Given the description of an element on the screen output the (x, y) to click on. 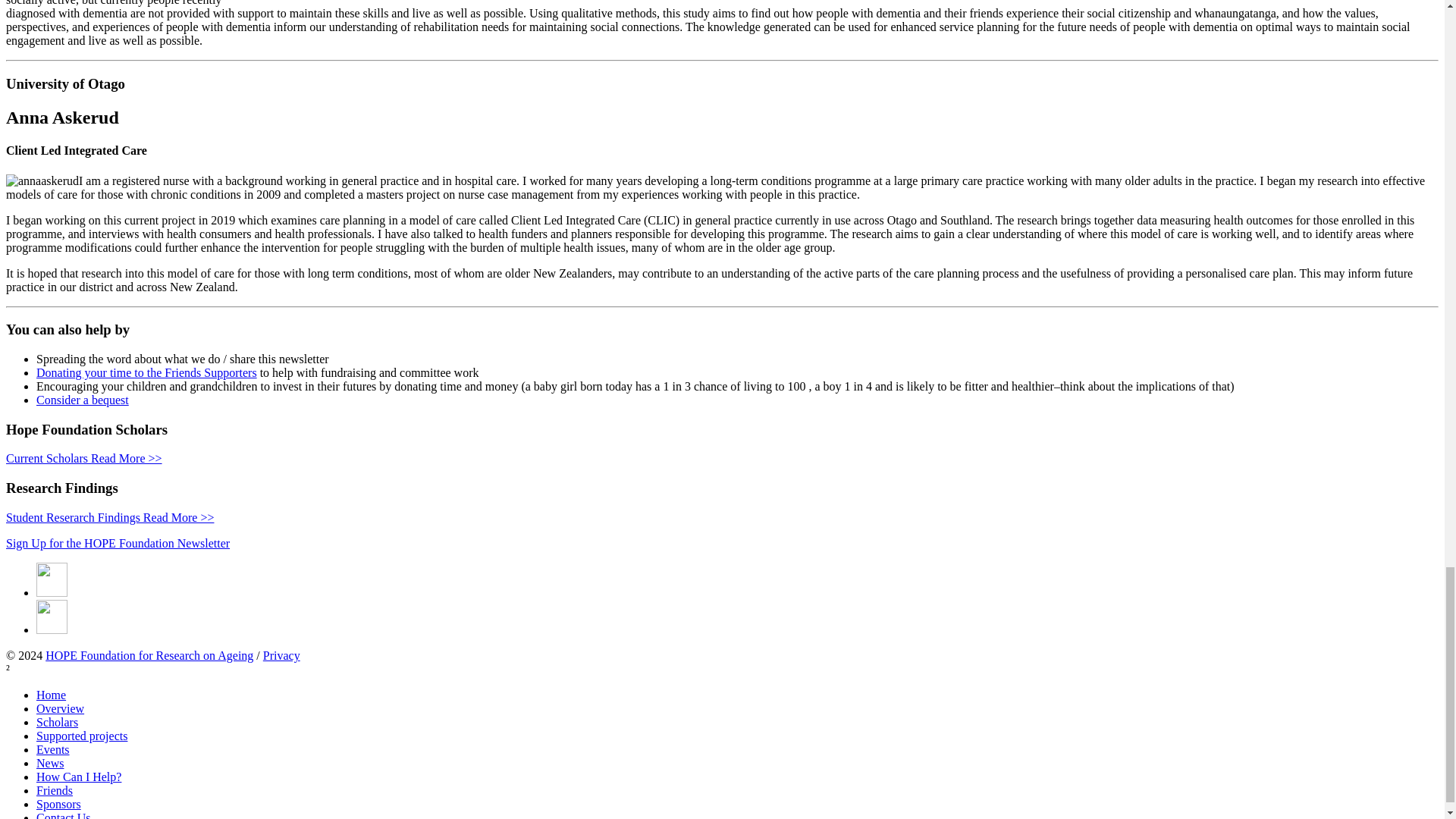
Donating your time to the Friends Supporters (146, 372)
News (50, 762)
Sign Up for the HOPE Foundation Newsletter (117, 543)
Home (50, 694)
Sign Up for the HOPE Foundation Newsletter (117, 543)
Events (52, 748)
Overview (60, 707)
Supported projects (82, 735)
Scholars (57, 721)
Privacy (281, 655)
Sponsors (58, 803)
Consider a bequest (82, 399)
How Can I Help? (78, 776)
Friends (54, 789)
HOPE Foundation for Research on Ageing (149, 655)
